Given the description of an element on the screen output the (x, y) to click on. 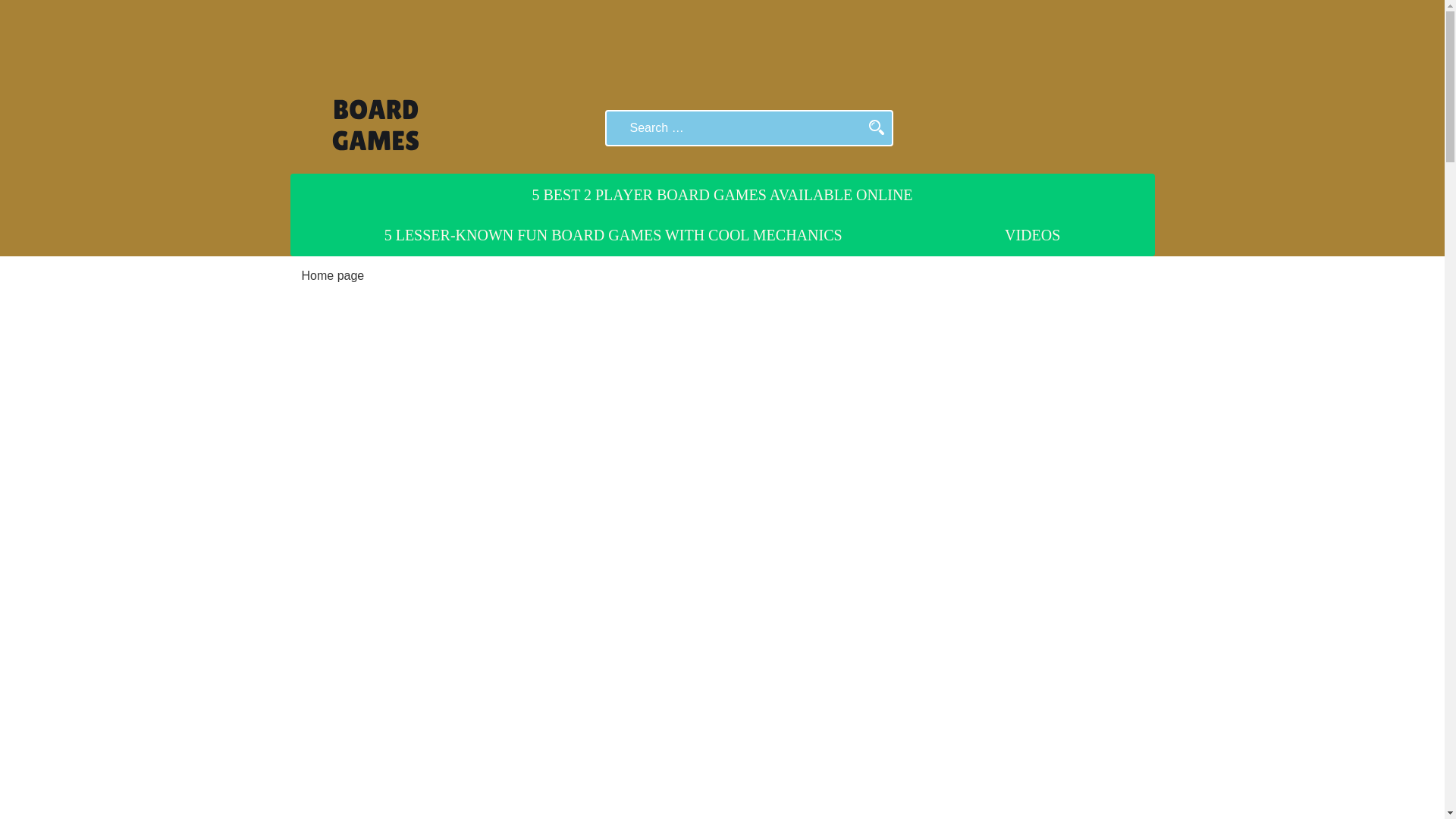
5 LESSER-KNOWN FUN BOARD GAMES WITH COOL MECHANICS (612, 234)
VIDEOS (1031, 234)
Home page (333, 275)
5 BEST 2 PLAYER BOARD GAMES AVAILABLE ONLINE (721, 194)
